Given the description of an element on the screen output the (x, y) to click on. 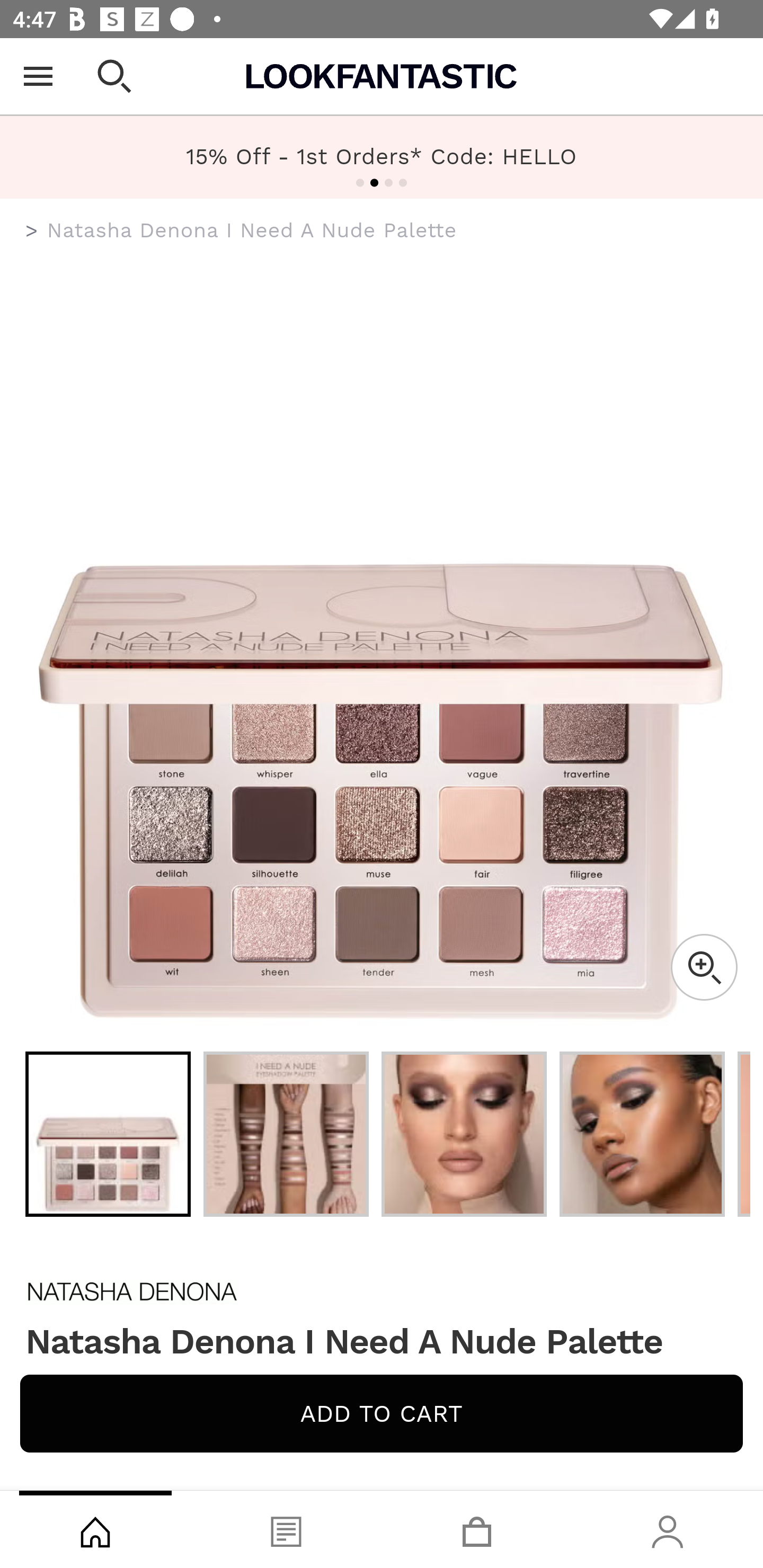
Open Menu (38, 75)
Open search (114, 75)
Lookfantastic USA (381, 75)
us.lookfantastic (32, 230)
Zoom (703, 966)
Natasha Denona (381, 1291)
Add to cart (381, 1413)
Shop, tab, 1 of 4 (95, 1529)
Blog, tab, 2 of 4 (285, 1529)
Basket, tab, 3 of 4 (476, 1529)
Account, tab, 4 of 4 (667, 1529)
